Given the description of an element on the screen output the (x, y) to click on. 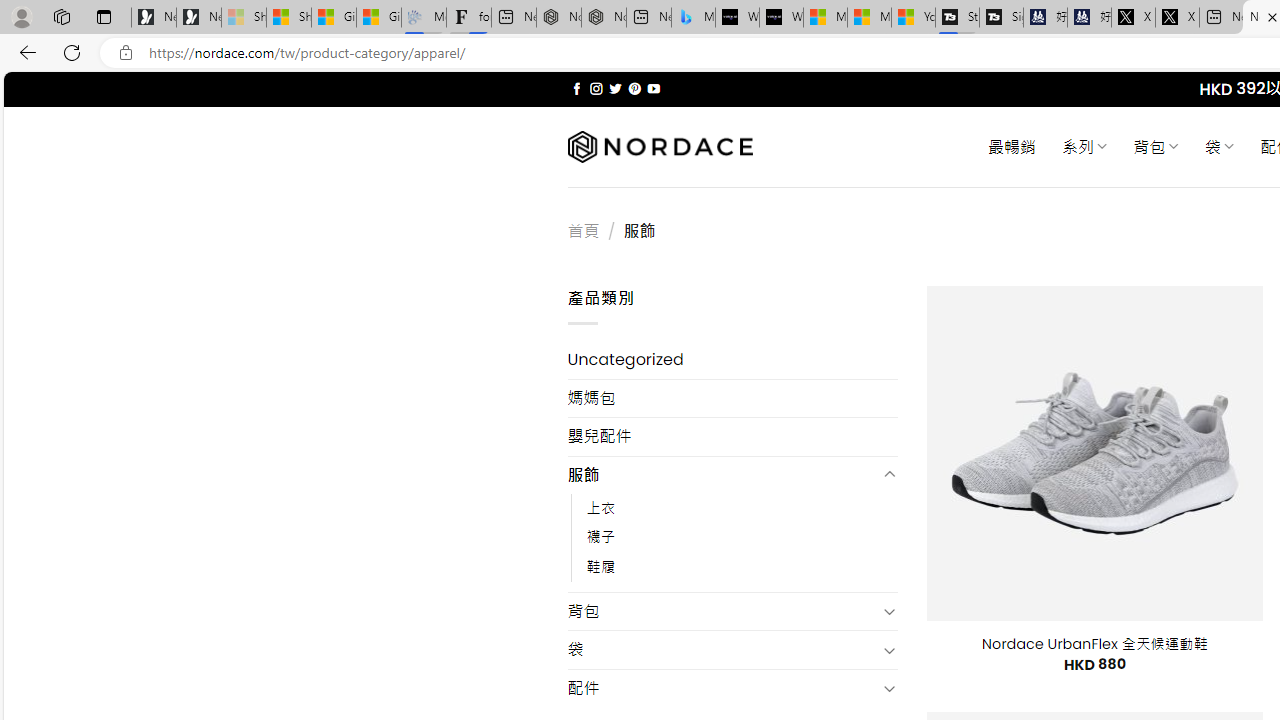
Follow on Facebook (576, 88)
Uncategorized (732, 359)
